Given the description of an element on the screen output the (x, y) to click on. 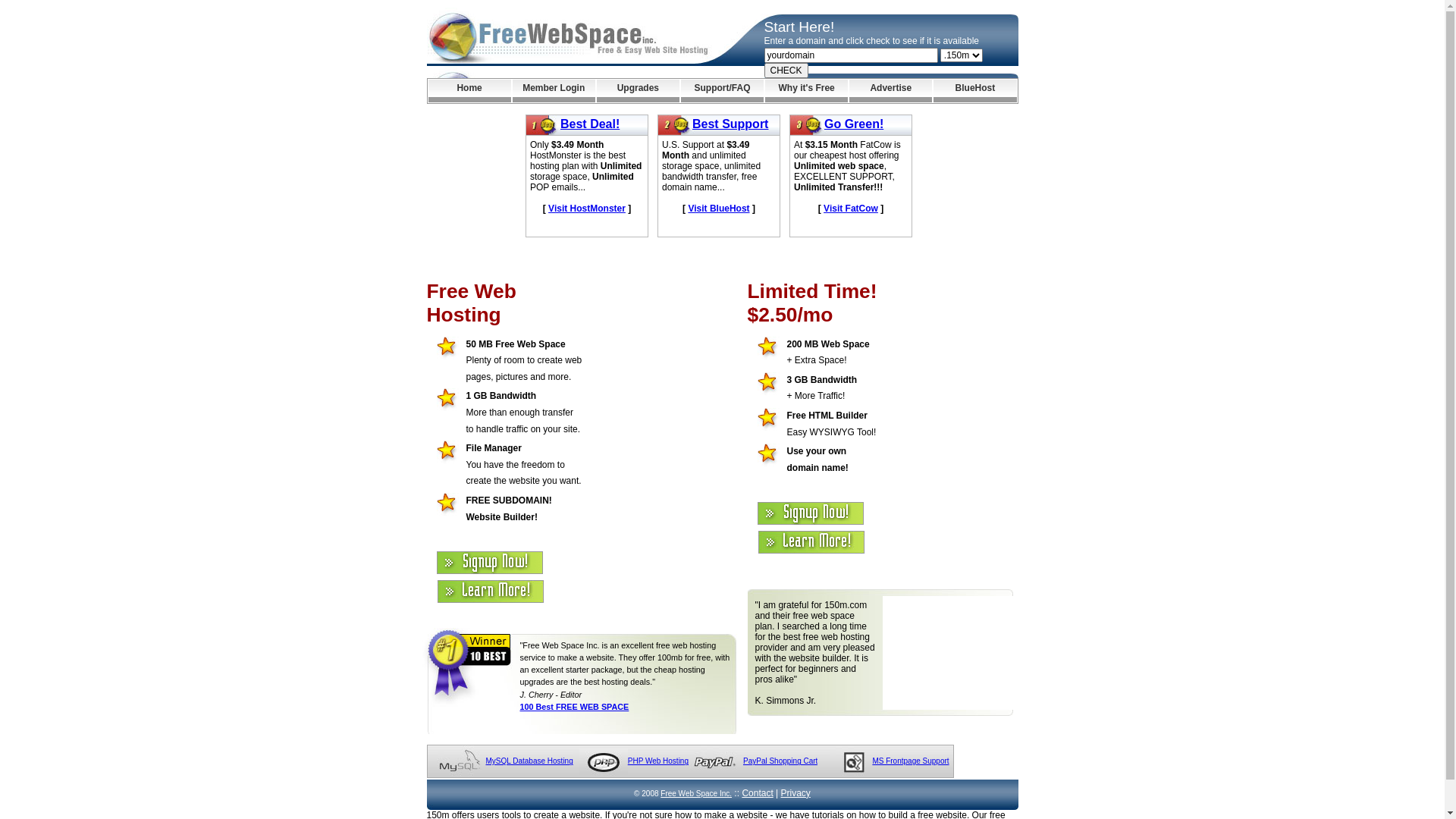
Home Element type: text (468, 90)
BlueHost Element type: text (974, 90)
Member Login Element type: text (553, 90)
Contact Element type: text (756, 792)
Privacy Element type: text (795, 792)
Upgrades Element type: text (637, 90)
Advertise Element type: text (890, 90)
MS Frontpage Support Element type: text (910, 760)
PayPal Shopping Cart Element type: text (780, 760)
Why it's Free Element type: text (806, 90)
Support/FAQ Element type: text (721, 90)
Free Web Space Inc. Element type: text (695, 793)
MySQL Database Hosting Element type: text (528, 760)
100 Best FREE WEB SPACE Element type: text (574, 706)
CHECK Element type: text (786, 70)
PHP Web Hosting Element type: text (657, 760)
